Given the description of an element on the screen output the (x, y) to click on. 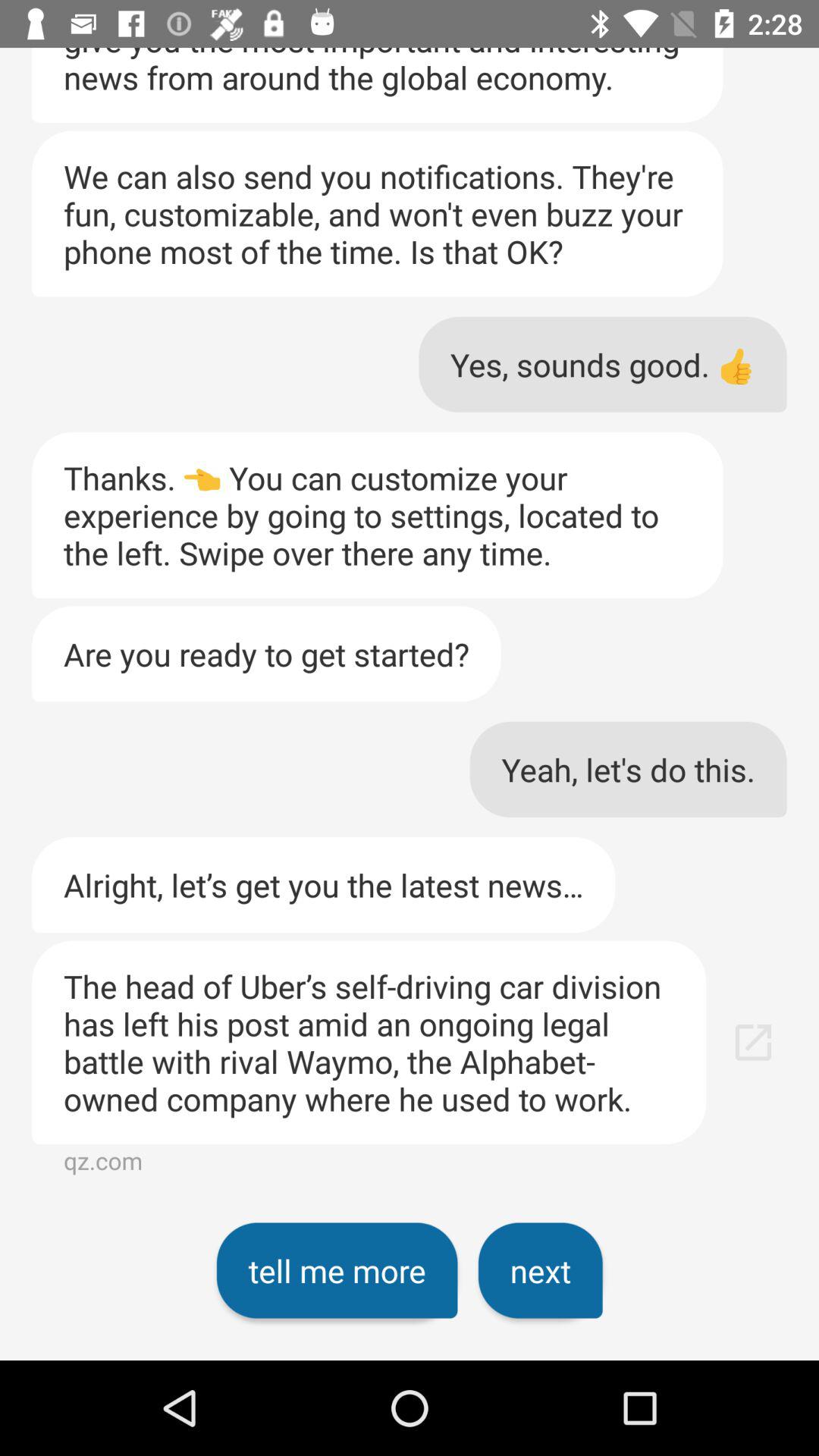
press tell me more icon (336, 1270)
